Given the description of an element on the screen output the (x, y) to click on. 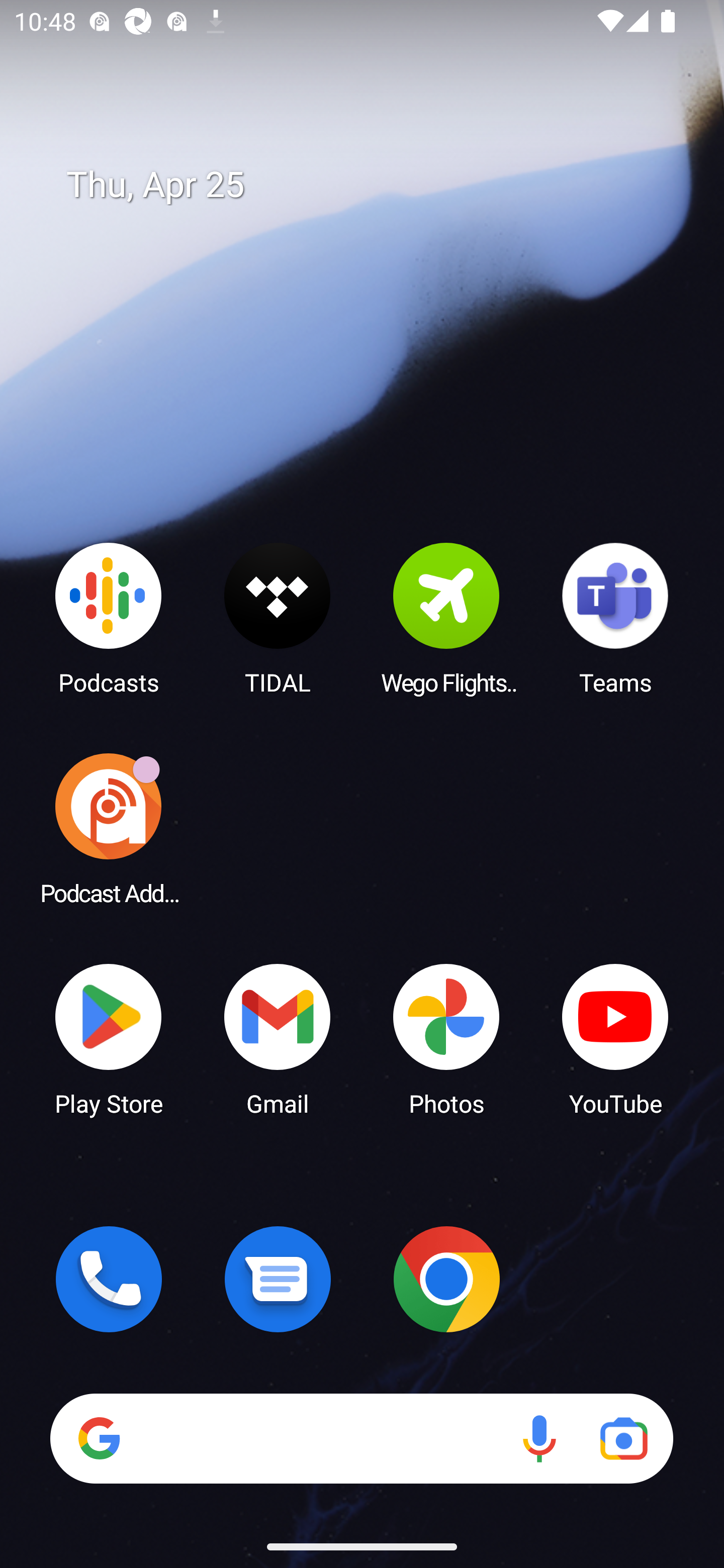
Thu, Apr 25 (375, 184)
Podcasts (108, 617)
TIDAL (277, 617)
Wego Flights & Hotels (445, 617)
Teams (615, 617)
Play Store (108, 1038)
Gmail (277, 1038)
Photos (445, 1038)
YouTube (615, 1038)
Phone (108, 1279)
Messages (277, 1279)
Chrome (446, 1279)
Search Voice search Google Lens (361, 1438)
Voice search (539, 1438)
Google Lens (623, 1438)
